Given the description of an element on the screen output the (x, y) to click on. 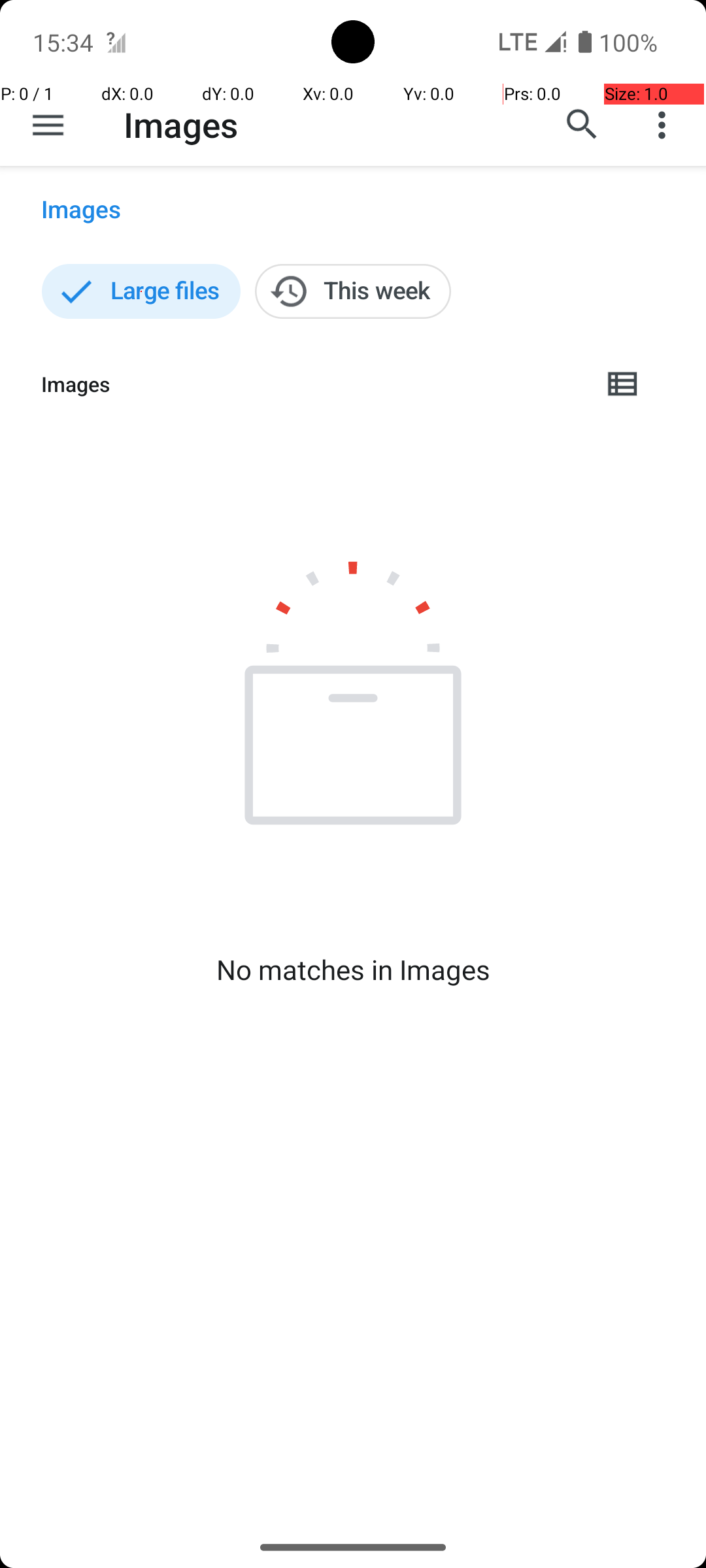
No matches in Images Element type: android.widget.TextView (352, 968)
